Given the description of an element on the screen output the (x, y) to click on. 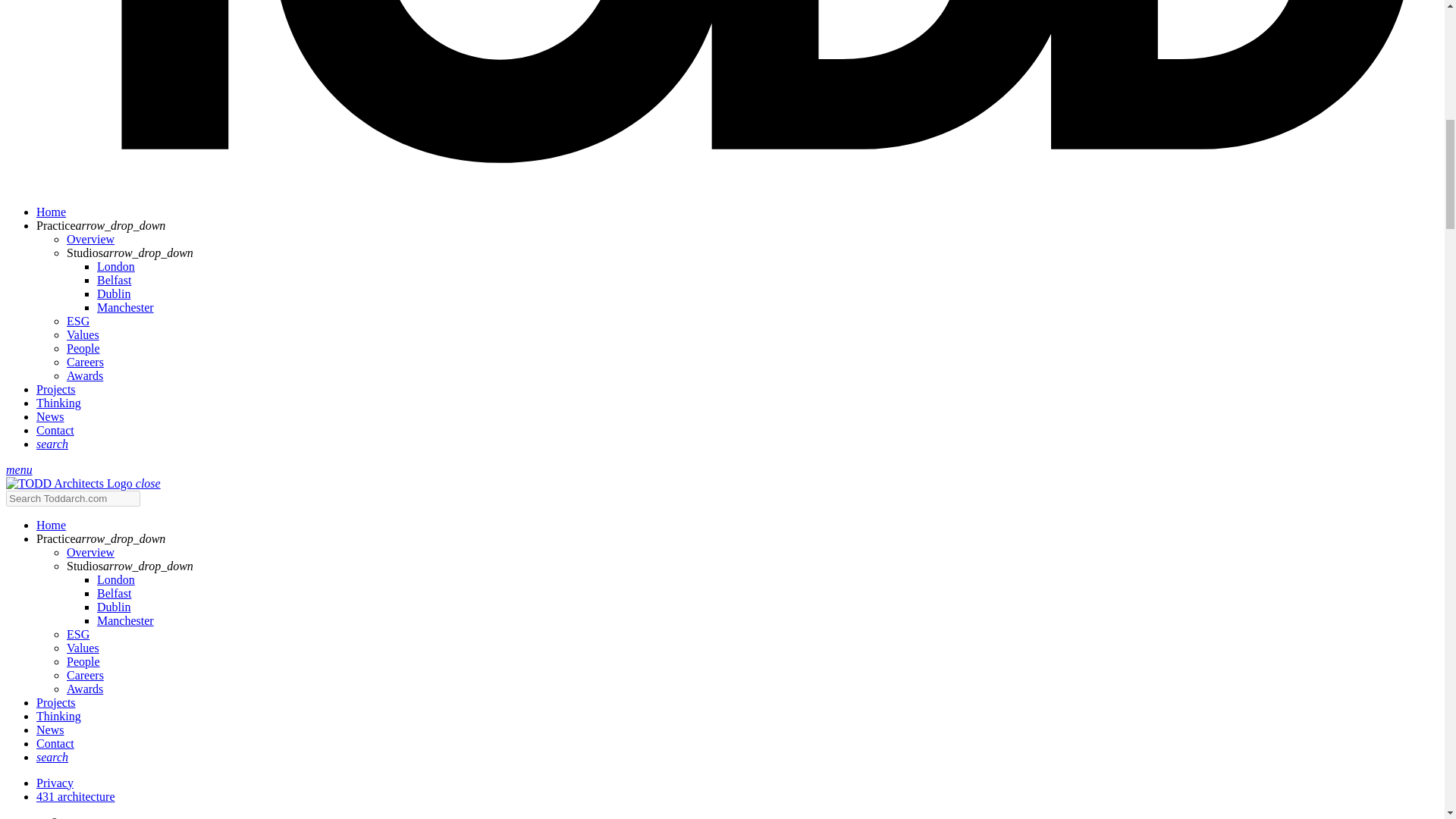
Values (82, 647)
People (83, 347)
Dublin (114, 292)
Values (82, 333)
People (83, 661)
London (116, 579)
London (116, 265)
search (52, 442)
Overview (90, 552)
Manchester (125, 306)
